Given the description of an element on the screen output the (x, y) to click on. 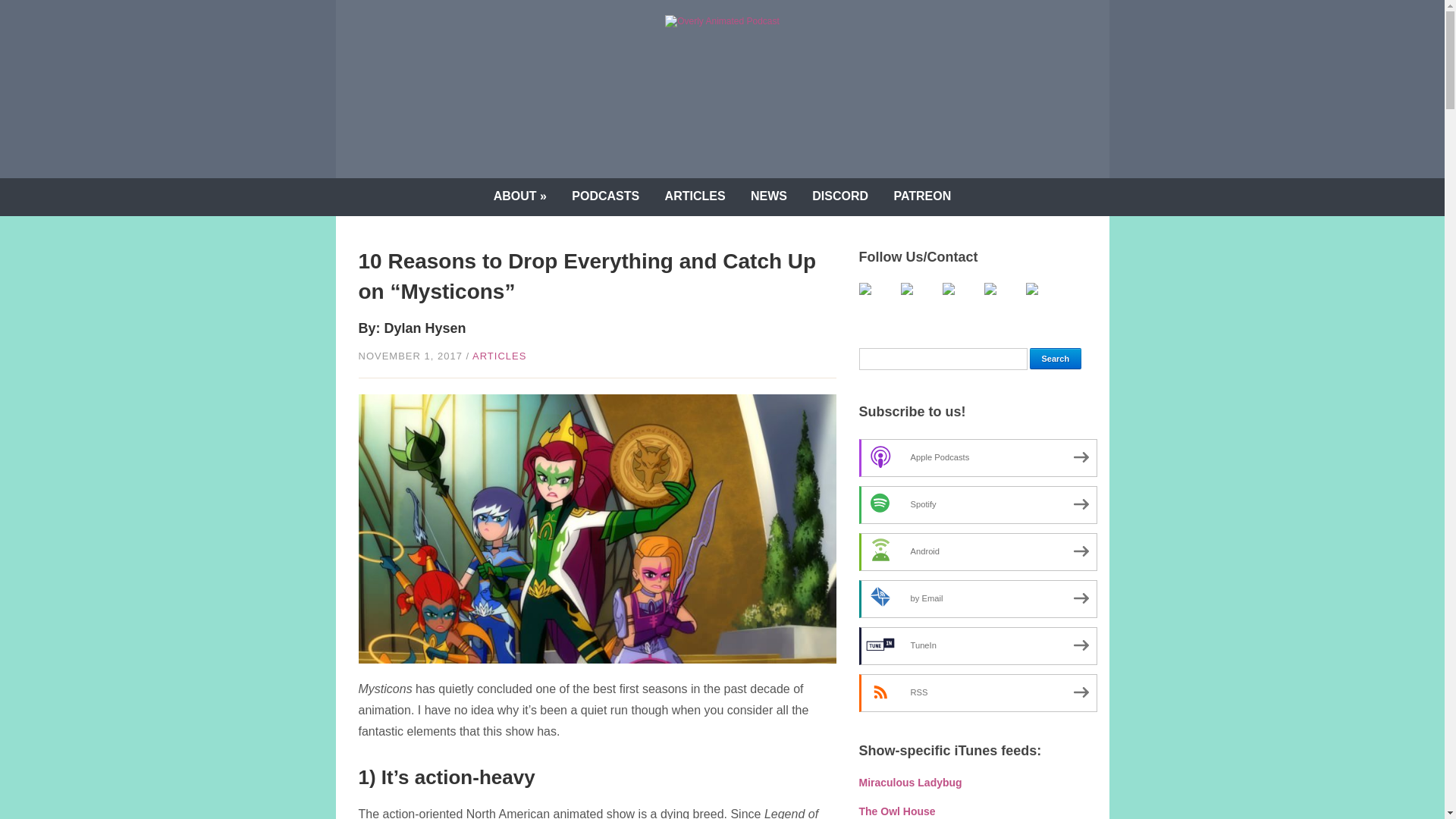
Check out our instagram feed (1002, 300)
Email us (1043, 300)
Subscribe to us on Youtube (919, 300)
Subscribe on Apple Podcasts (977, 457)
DISCORD (839, 196)
Search (1055, 358)
We take animation seriously. (721, 20)
ARTICLES (498, 355)
Follow us on Twitter (877, 300)
NEWS (768, 196)
